Given the description of an element on the screen output the (x, y) to click on. 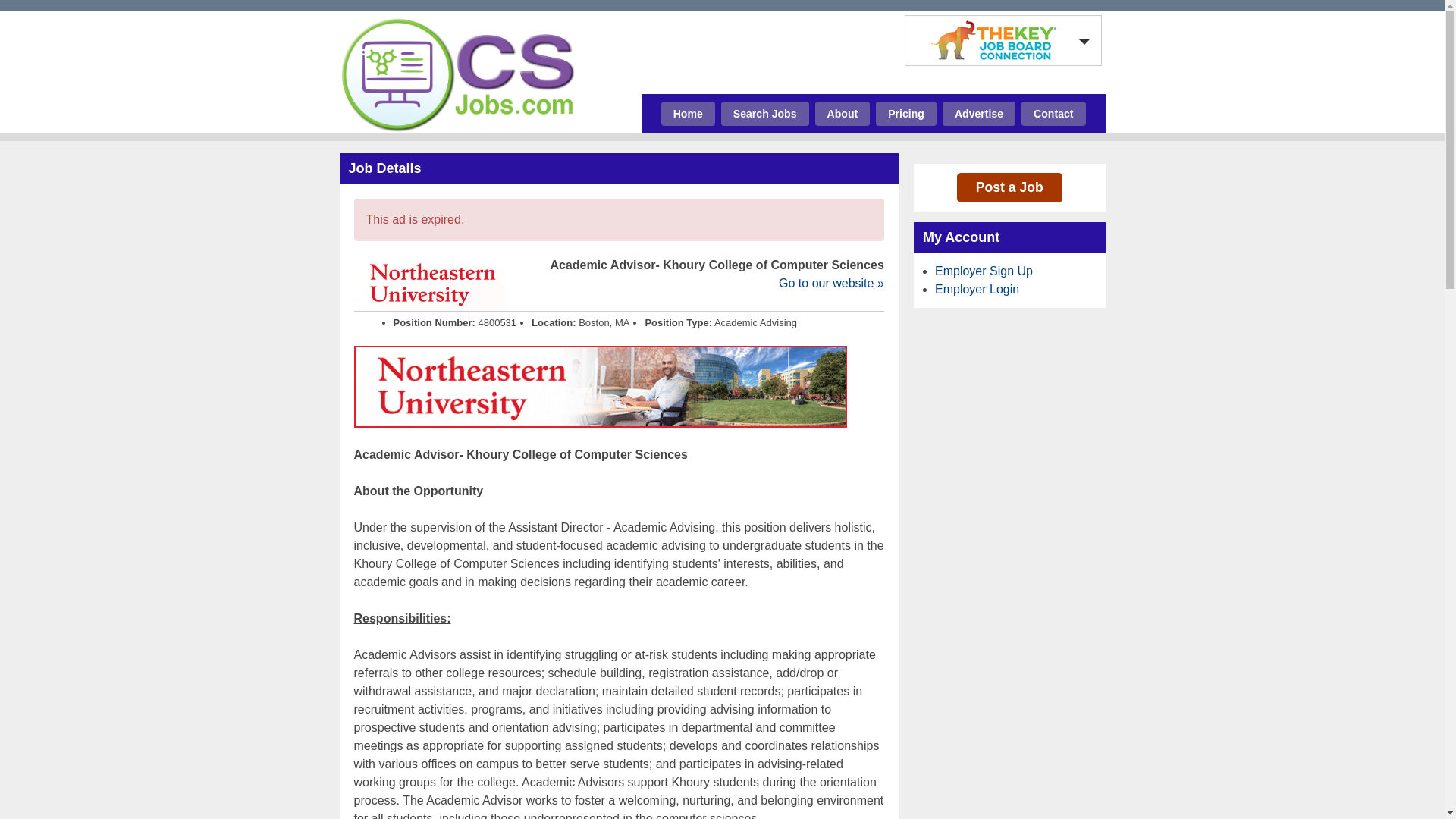
Toggle JobElephant Network menu (998, 40)
